Given the description of an element on the screen output the (x, y) to click on. 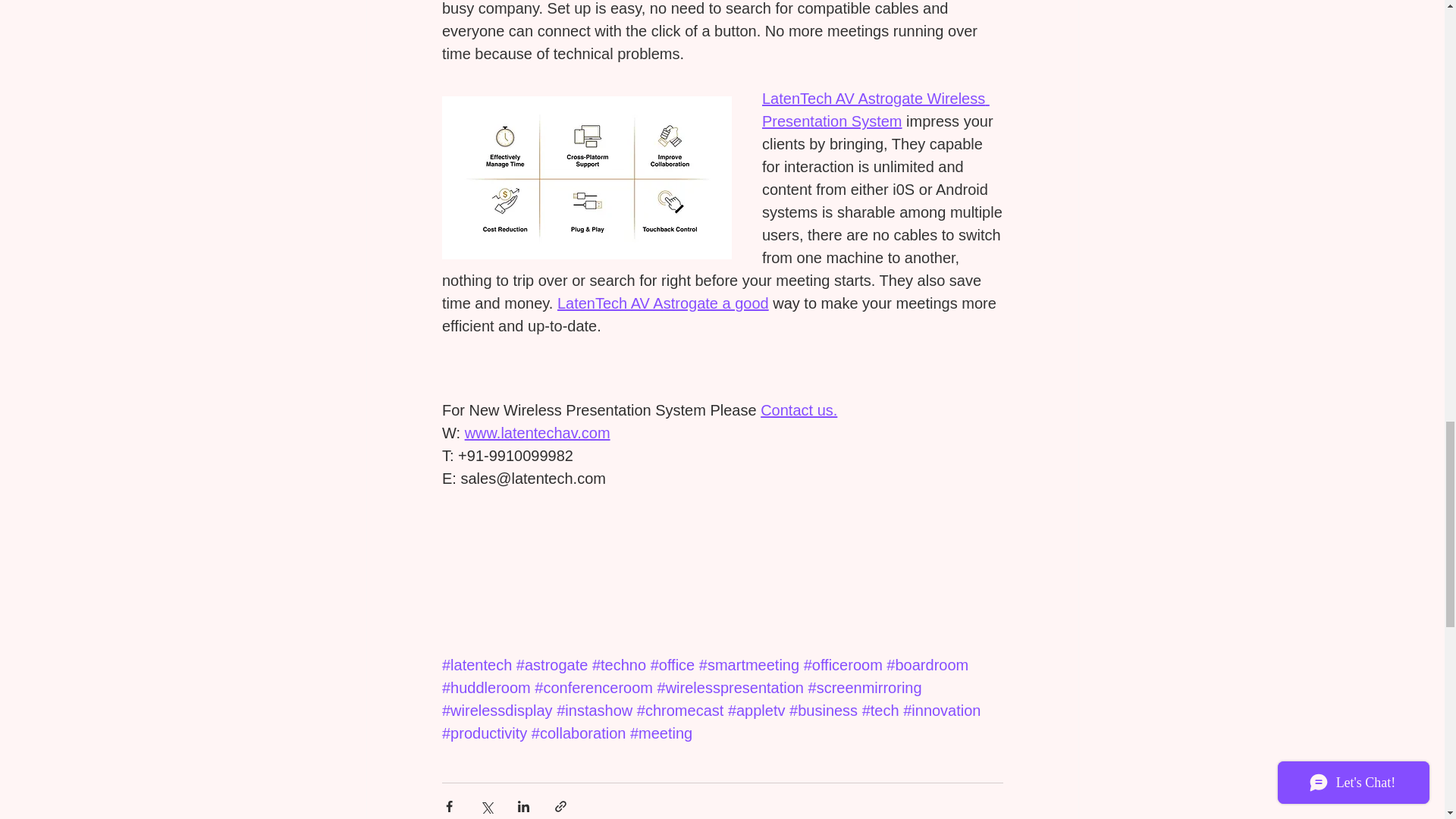
LatenTech AV Astrogate Wireless Presentation System (874, 110)
LatenTech AV Astrogate a good (662, 304)
www.latentechav.com (537, 433)
Contact us. (798, 410)
